Given the description of an element on the screen output the (x, y) to click on. 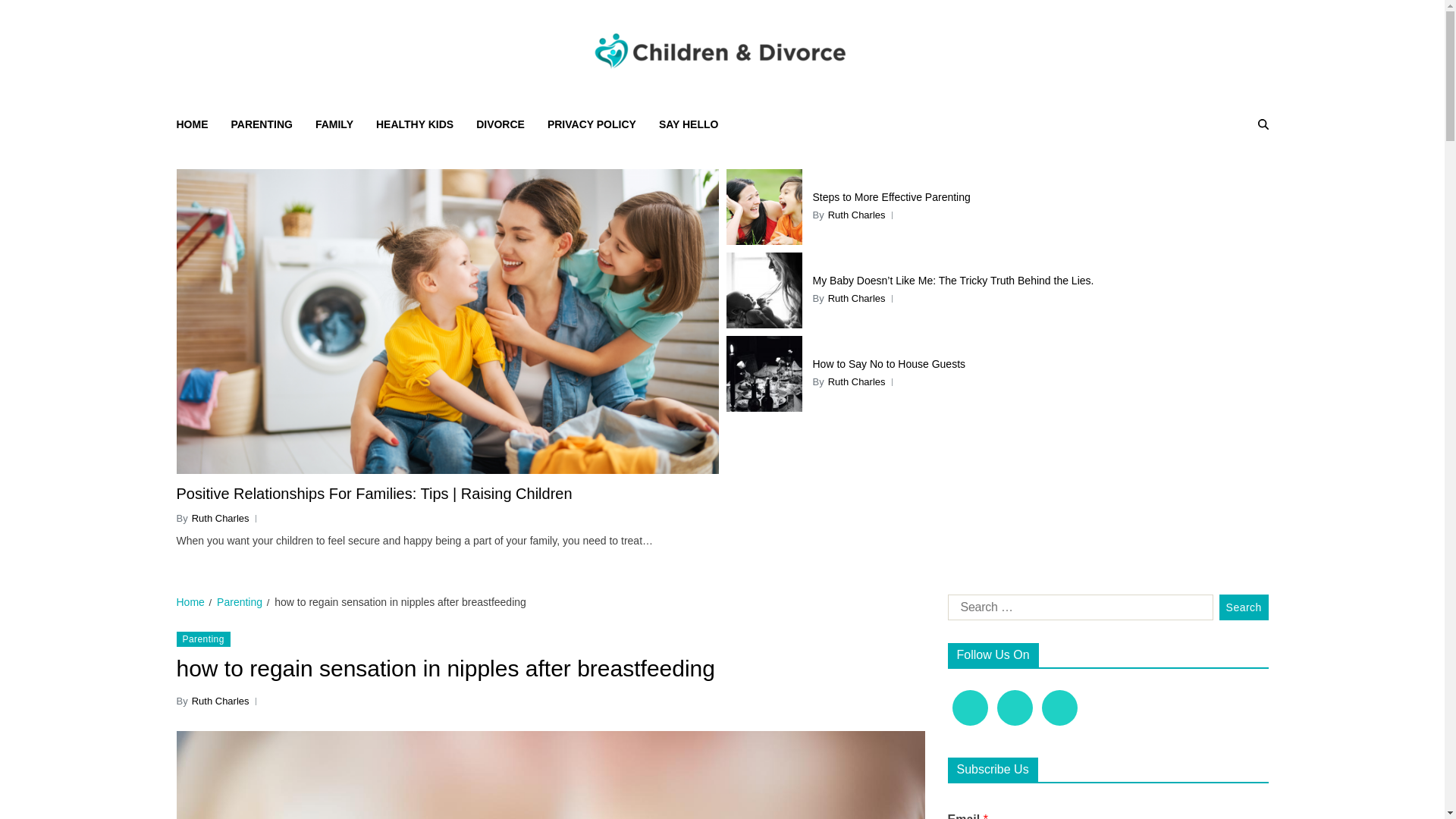
Ruth Charles (856, 298)
Tips and Guides for Effective Parenting (891, 96)
Search (1244, 606)
PRIVACY POLICY (591, 124)
Parenting (239, 602)
FAMILY (334, 124)
DIVORCE (500, 124)
Parenting (203, 639)
Home (189, 602)
Ruth Charles (856, 215)
Steps to More Effective Parenting (1040, 197)
HEALTHY KIDS (413, 124)
Ruth Charles (856, 381)
Search (1227, 177)
How to Say No to House Guests (1040, 364)
